Given the description of an element on the screen output the (x, y) to click on. 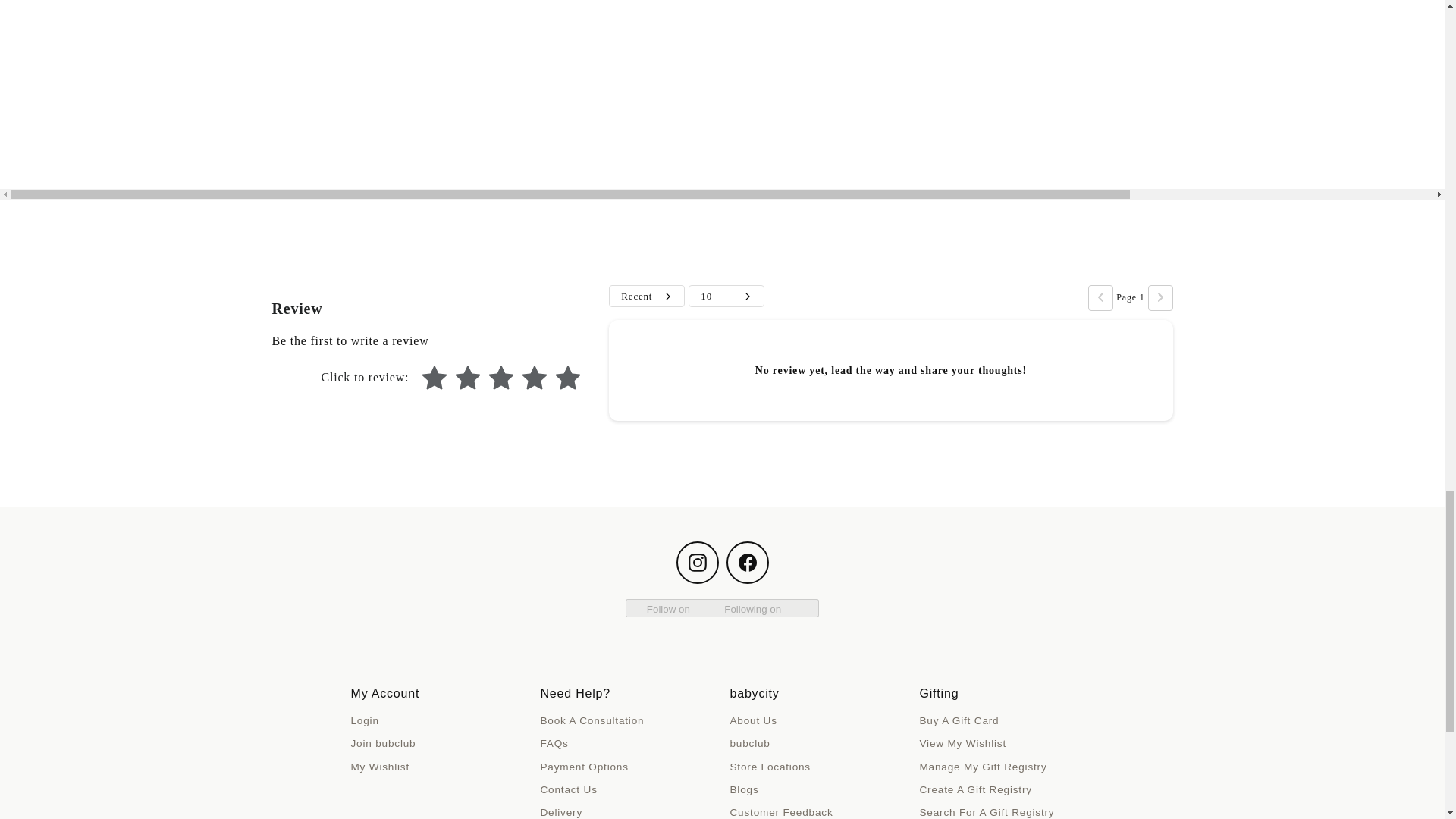
babycity on Instagram (698, 562)
babycity on Facebook (747, 562)
